Given the description of an element on the screen output the (x, y) to click on. 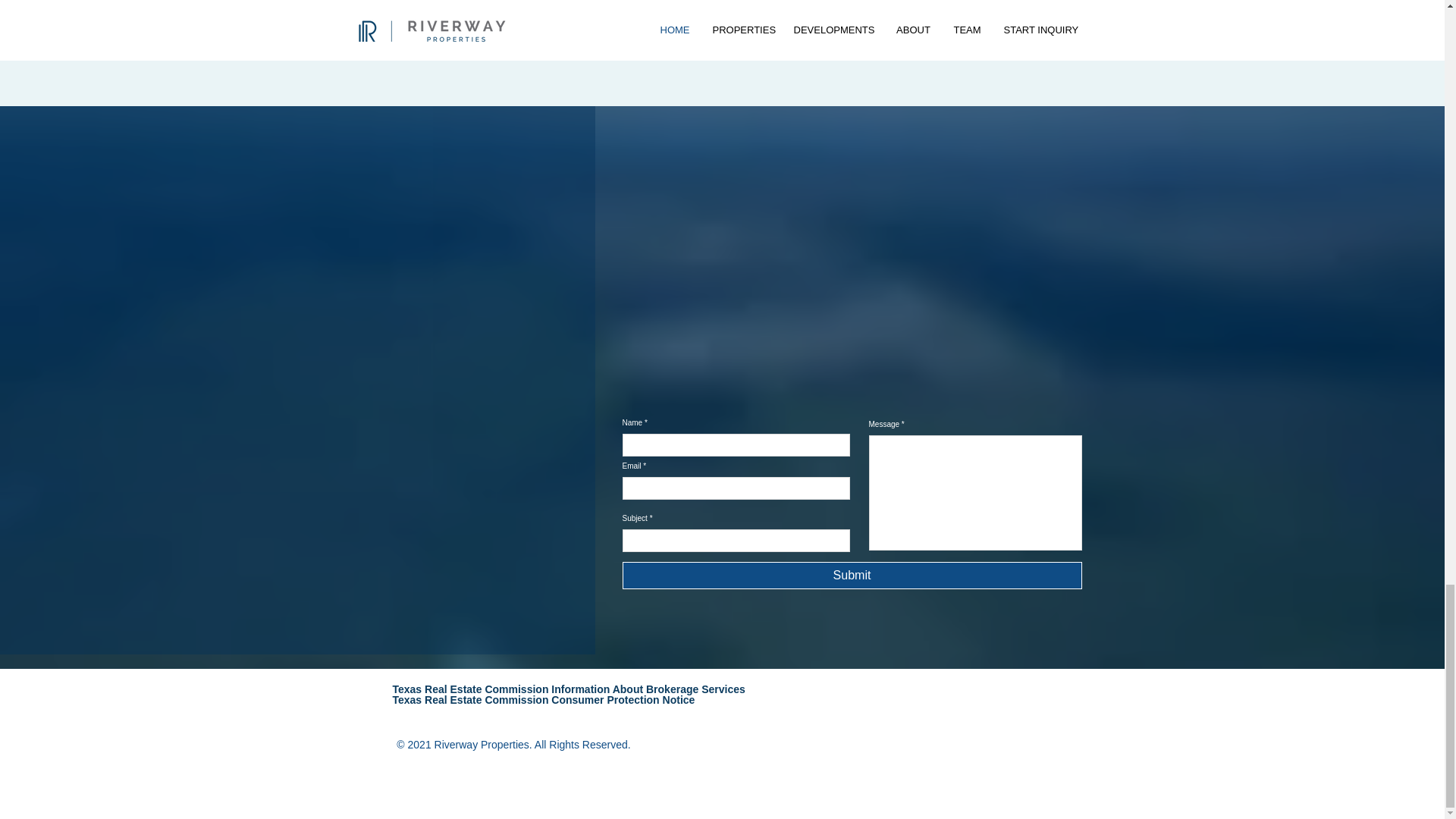
Texas Real Estate Commission Consumer Protection Notice (544, 695)
Submit (851, 574)
